Given the description of an element on the screen output the (x, y) to click on. 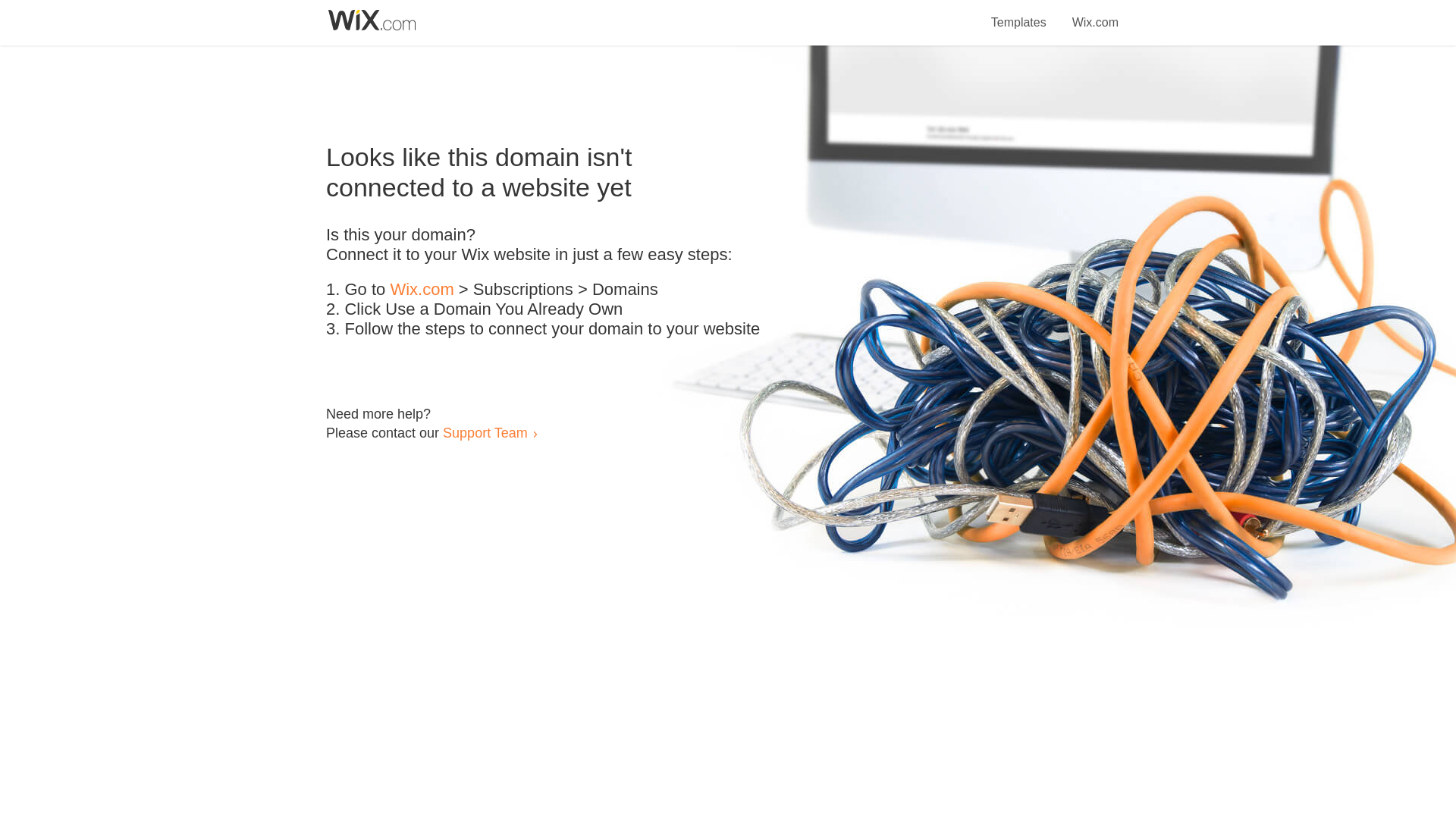
Wix.com (421, 289)
Support Team (484, 432)
Templates (1018, 14)
Wix.com (1095, 14)
